Given the description of an element on the screen output the (x, y) to click on. 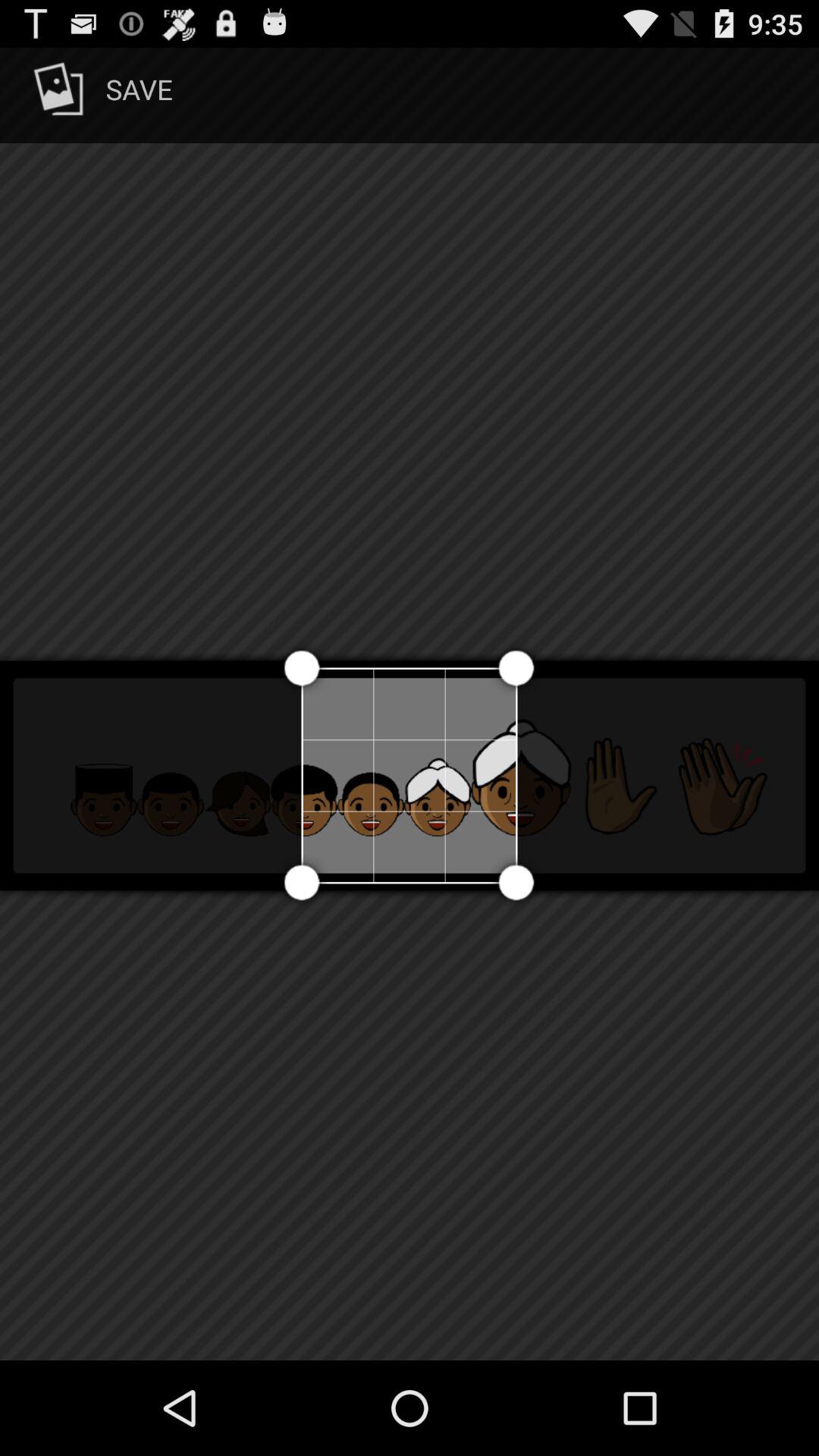
click save (100, 95)
